Given the description of an element on the screen output the (x, y) to click on. 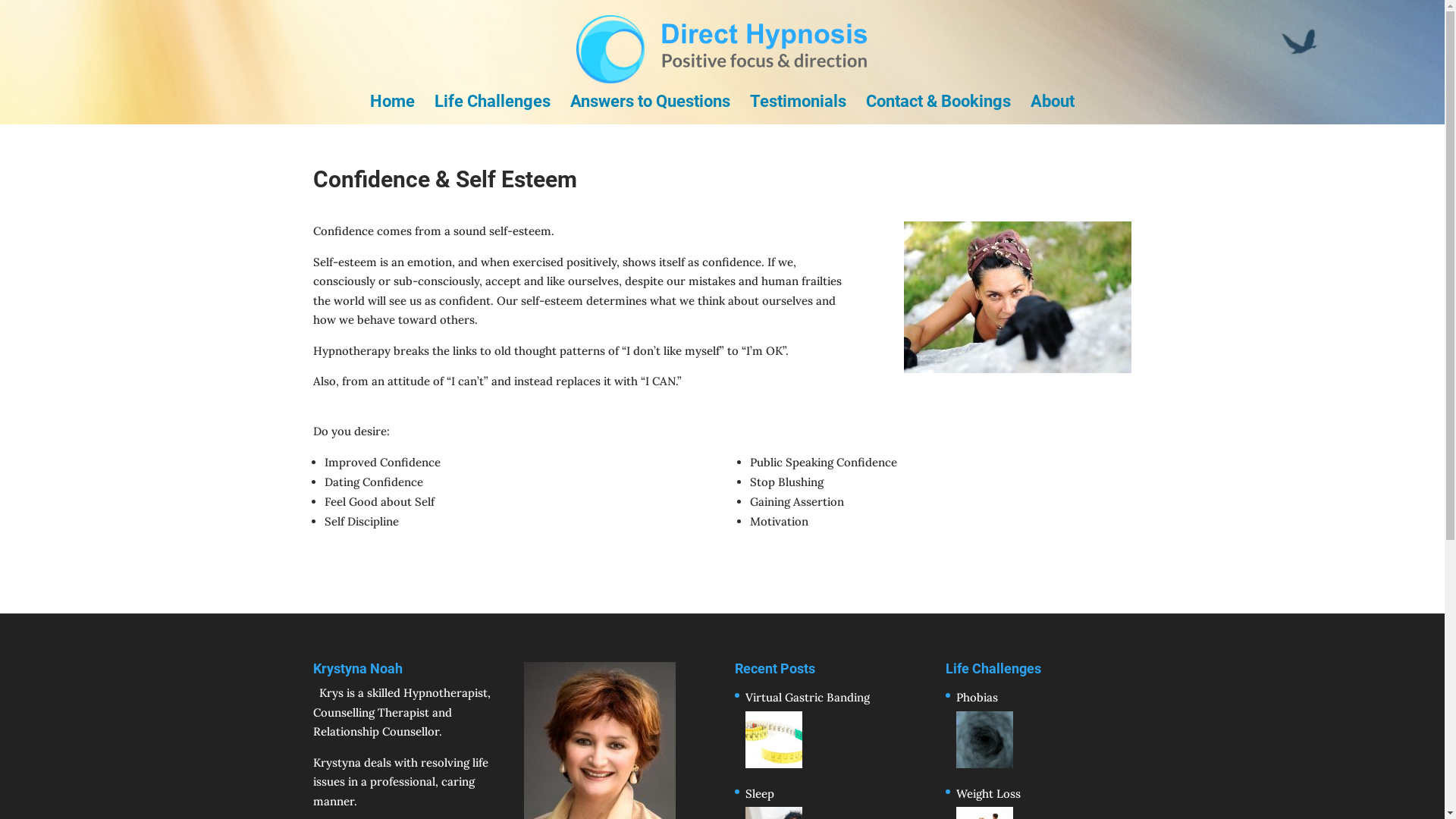
Home Element type: text (392, 110)
Virtual Gastric Banding Element type: text (807, 729)
Testimonials Element type: text (797, 110)
About Element type: text (1052, 110)
Phobias Element type: text (1039, 729)
Life Challenges Element type: text (492, 110)
Contact & Bookings Element type: text (938, 110)
Answers to Questions Element type: text (650, 110)
